Given the description of an element on the screen output the (x, y) to click on. 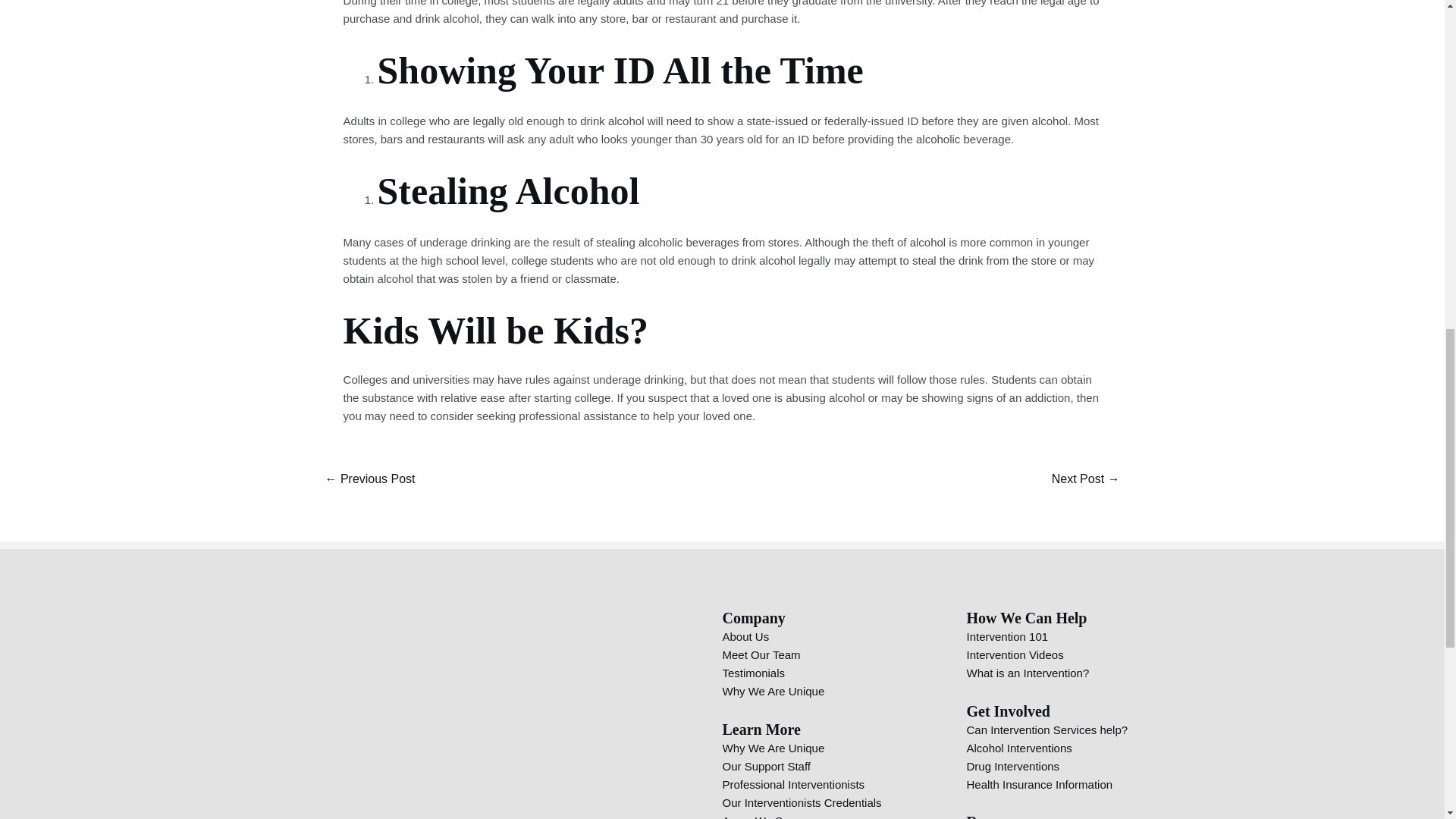
How to Stage an Intervention (368, 480)
Why You Must Fully Commit to an Intervention (1085, 480)
